Given the description of an element on the screen output the (x, y) to click on. 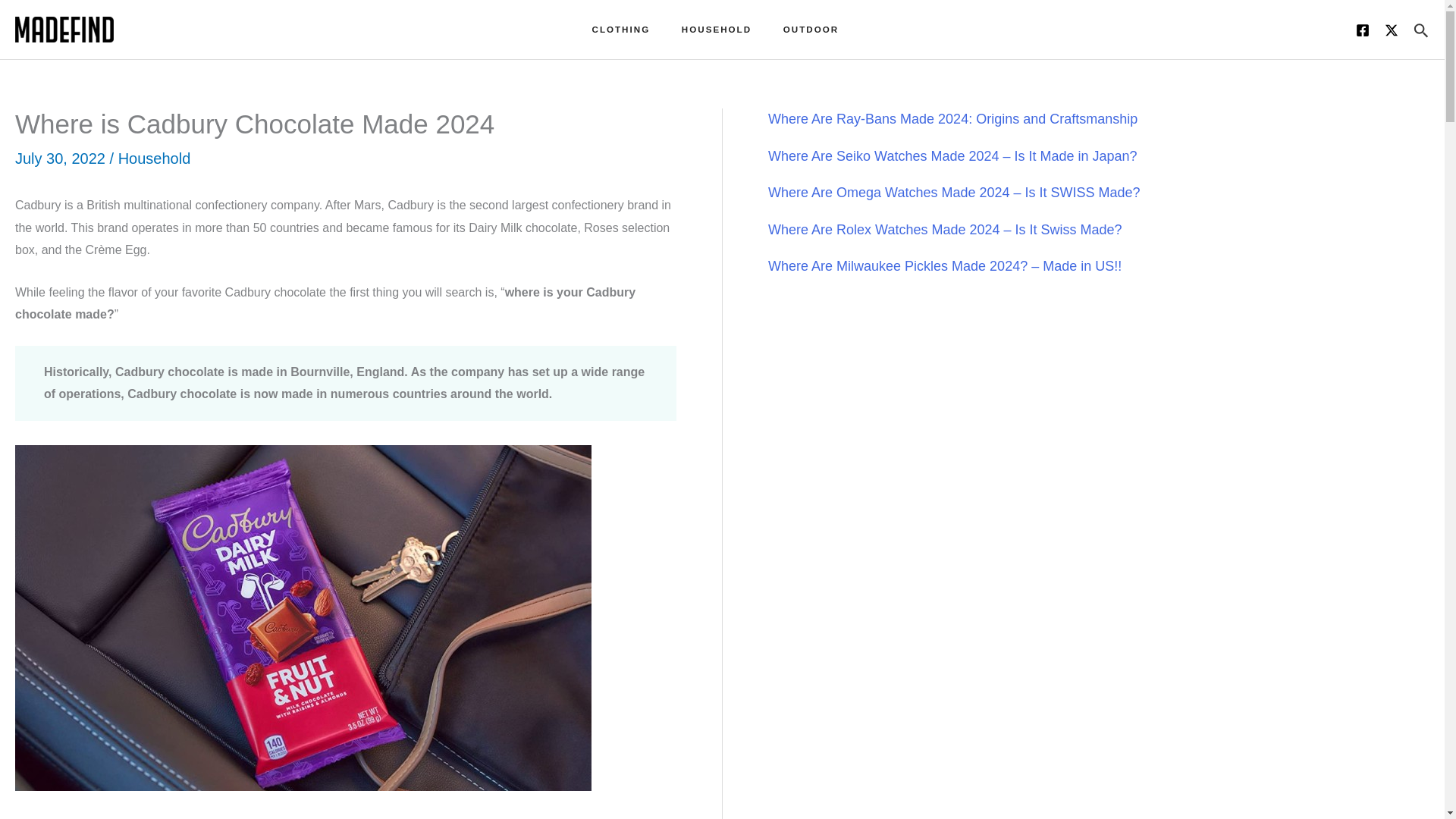
HOUSEHOLD (723, 29)
CLOTHING (627, 29)
OUTDOOR (817, 29)
Household (153, 158)
Where Are Ray-Bans Made 2024: Origins and Craftsmanship (952, 118)
